Given the description of an element on the screen output the (x, y) to click on. 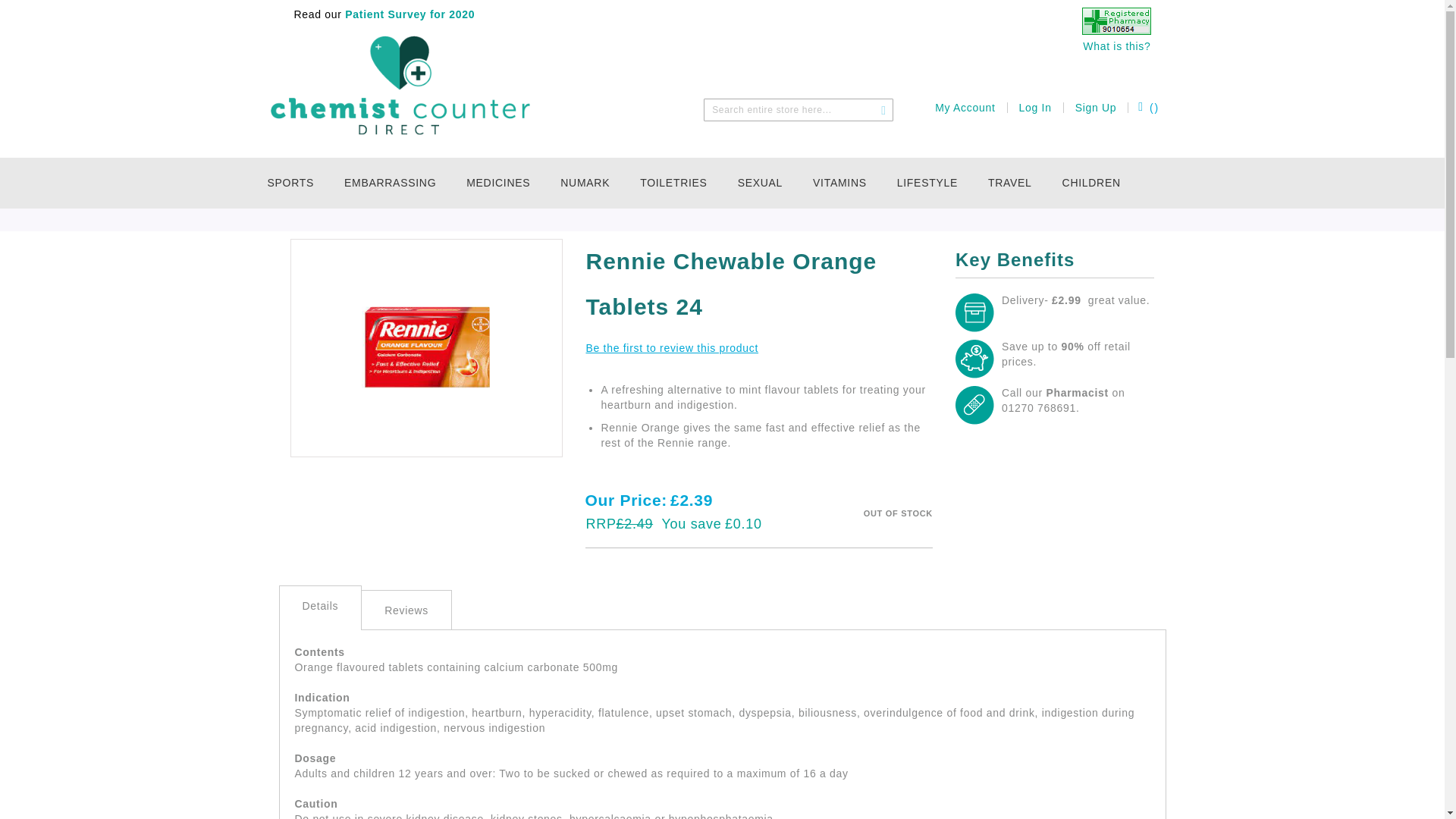
EMBARRASSING (393, 183)
Sign Up (1095, 107)
Log In (1035, 107)
Sign Up (1095, 107)
Log In (1035, 107)
Availability (898, 513)
My Account (964, 107)
My Account (964, 107)
SPORTS (297, 183)
Patient Survey for 2020 (409, 14)
Online Pharmacy (1115, 30)
What is this? (1116, 46)
